Given the description of an element on the screen output the (x, y) to click on. 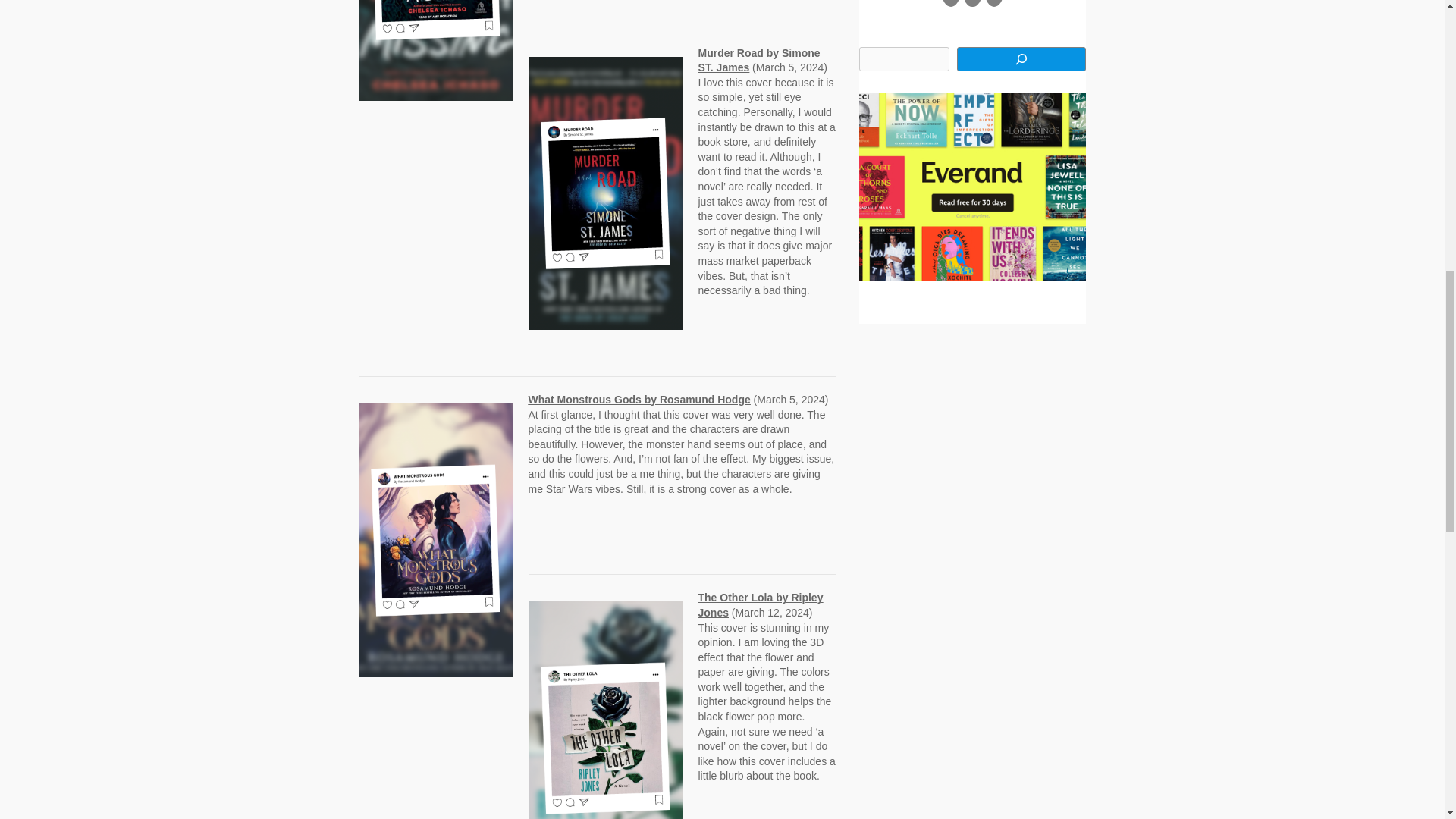
Instagram (994, 3)
The Other Lola by Ripley Jones (759, 605)
Feed (951, 3)
What Monstrous Gods by Rosamund Hodge (638, 399)
Murder Road by Simone ST. James (758, 60)
Twitter (971, 3)
